Given the description of an element on the screen output the (x, y) to click on. 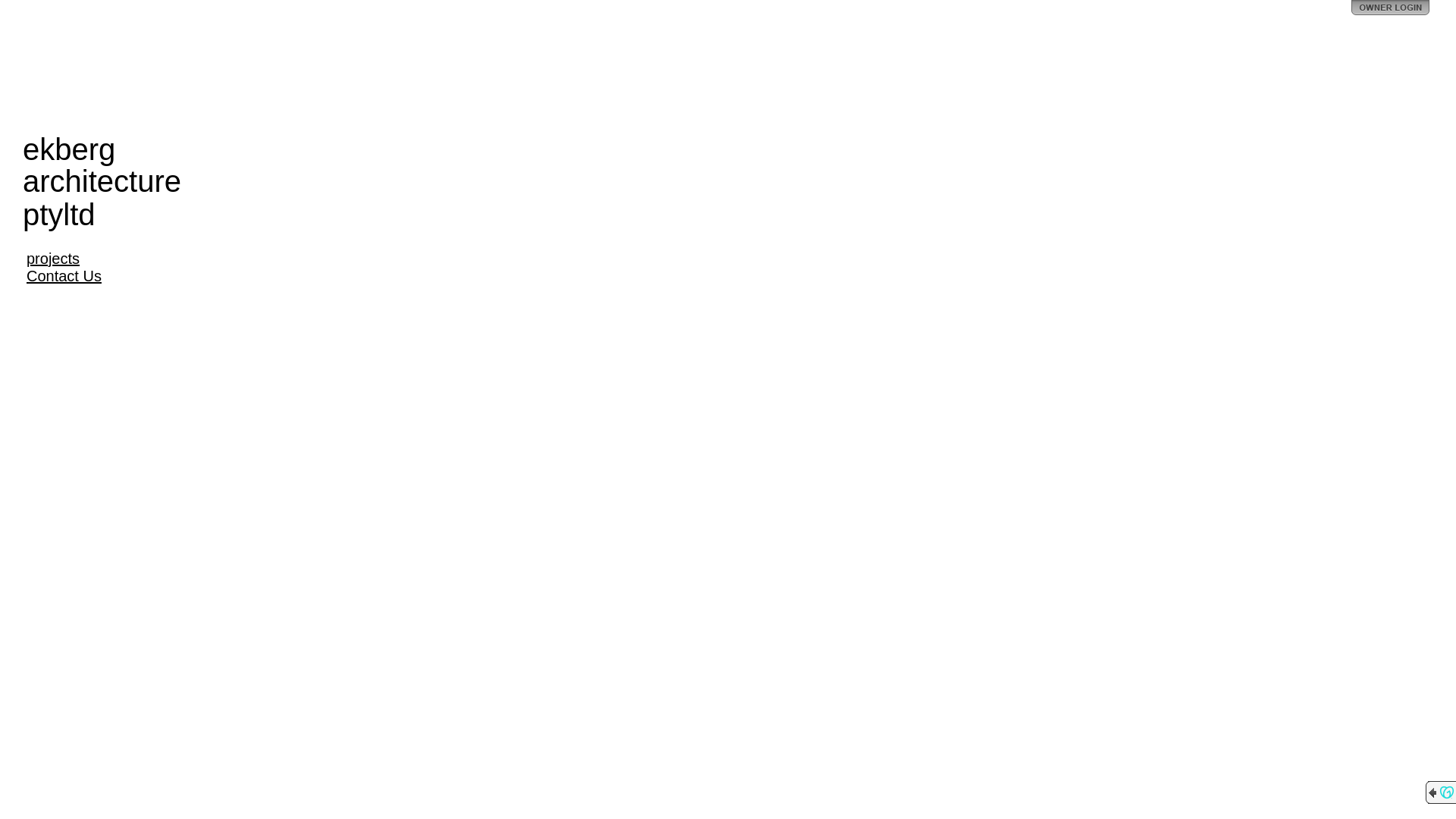
projects Element type: text (52, 258)
Contact Us Element type: text (63, 275)
